Given the description of an element on the screen output the (x, y) to click on. 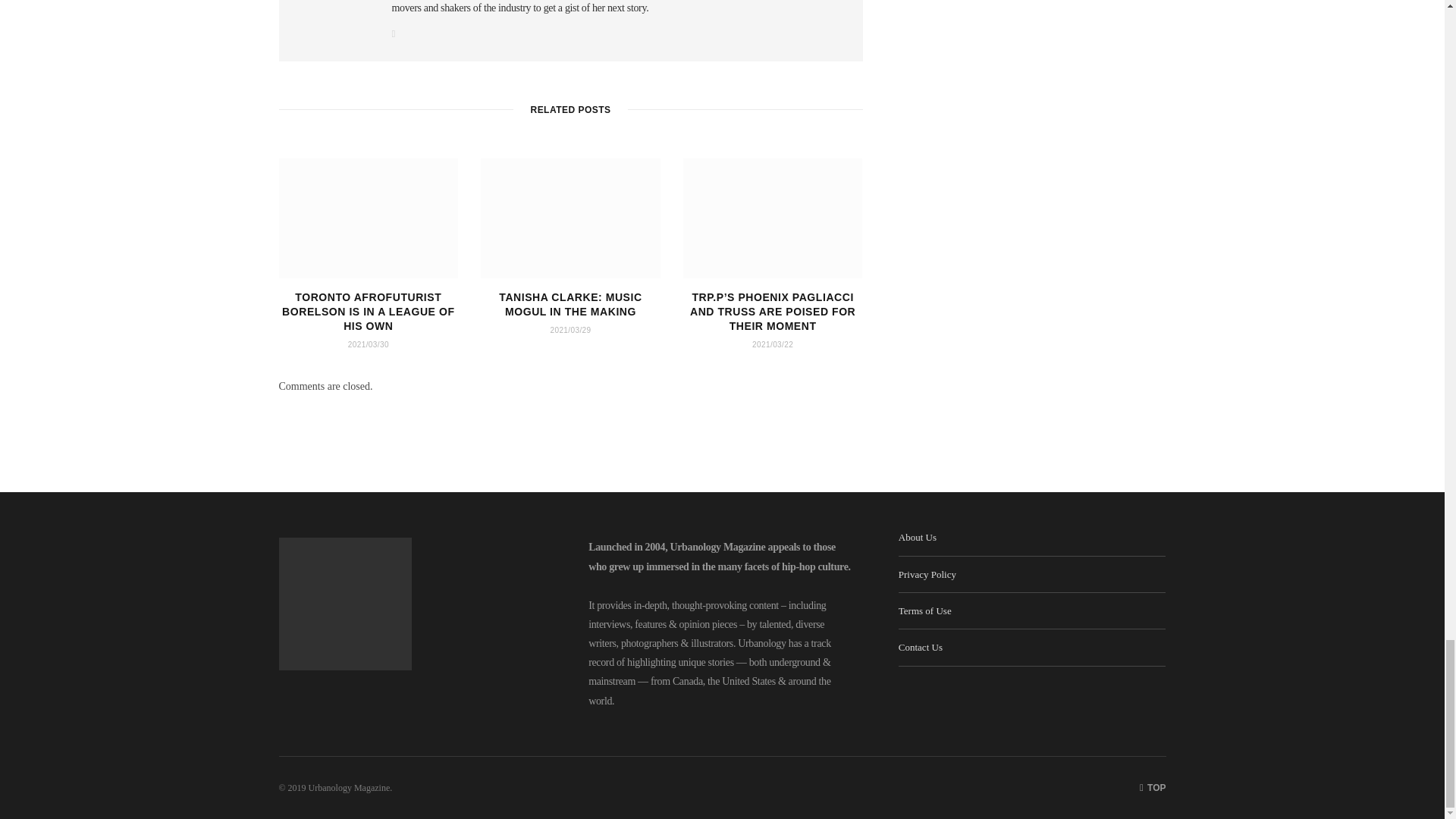
Toronto Afrofuturist Borelson is in a league of his own (368, 218)
Tanisha Clarke: Music mogul in the making (570, 218)
